Given the description of an element on the screen output the (x, y) to click on. 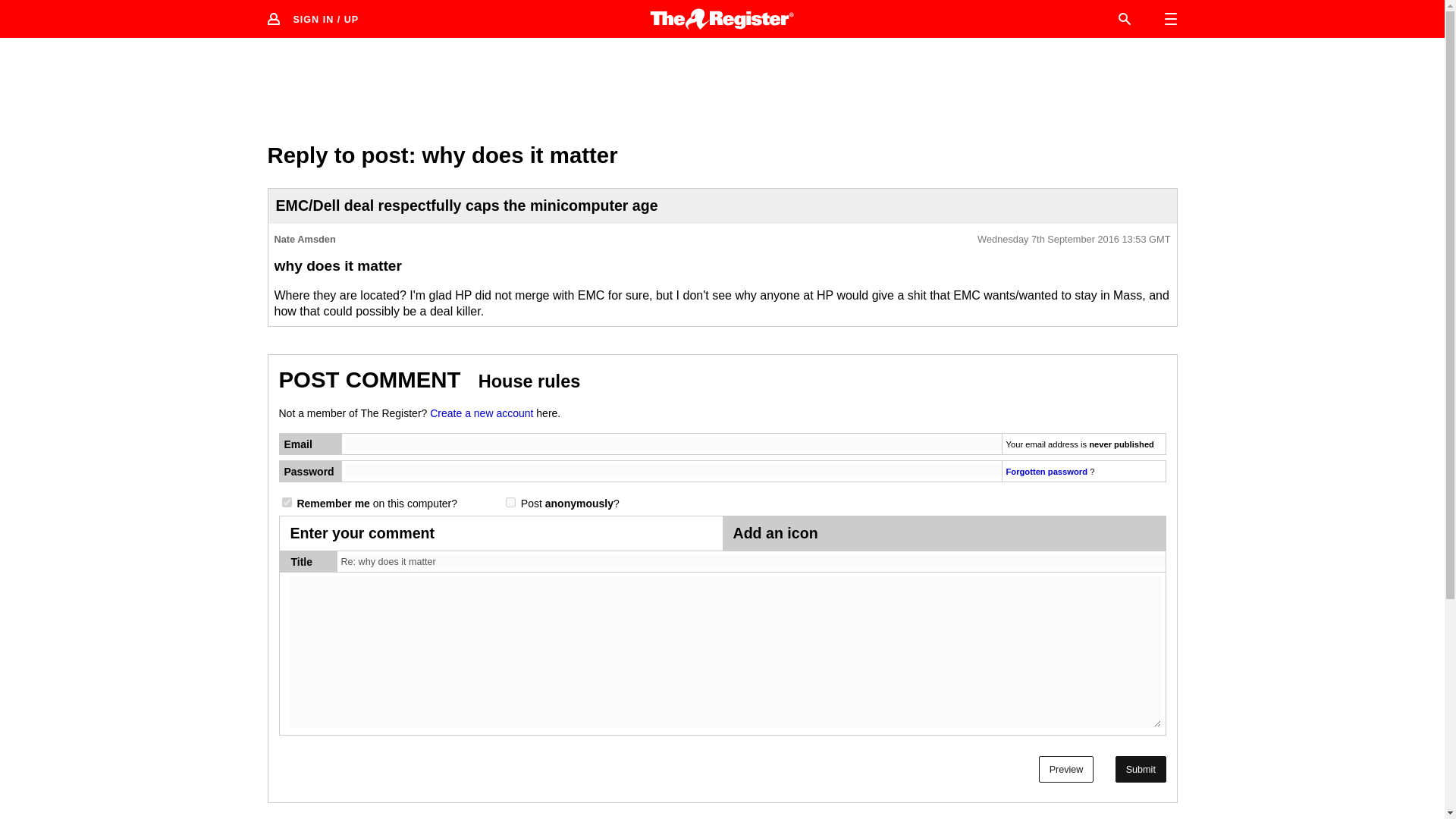
Submit (1140, 768)
Re: why does it matter (753, 562)
Preview (1066, 768)
Permalink to this post (1073, 239)
1 (287, 501)
1 (510, 501)
